Given the description of an element on the screen output the (x, y) to click on. 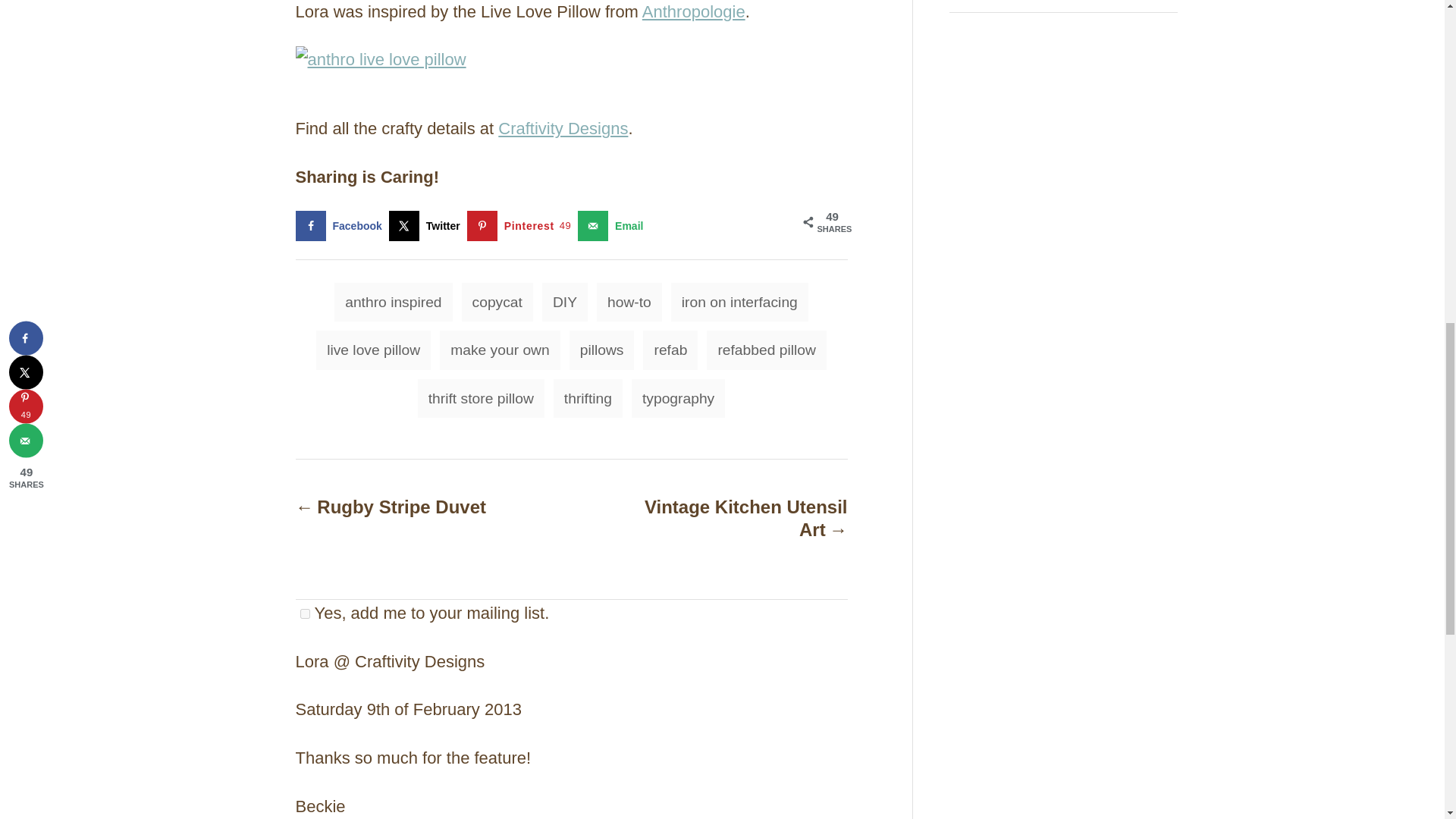
Share on Facebook (341, 225)
1 (304, 614)
Send over email (613, 225)
Save to Pinterest (522, 225)
anthro live love pillow (380, 60)
Share on X (427, 225)
